Given the description of an element on the screen output the (x, y) to click on. 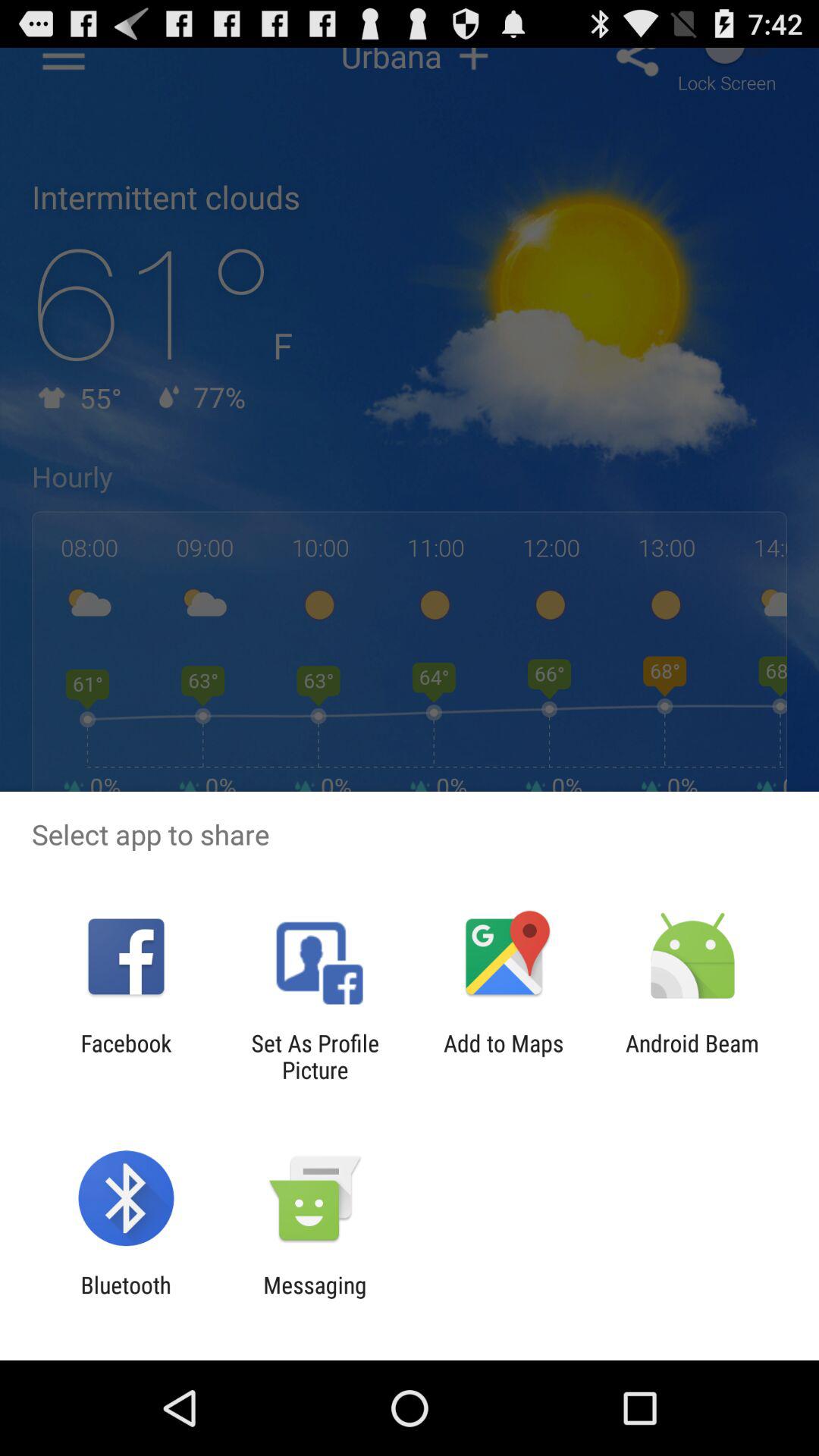
select icon to the left of the messaging item (125, 1298)
